Given the description of an element on the screen output the (x, y) to click on. 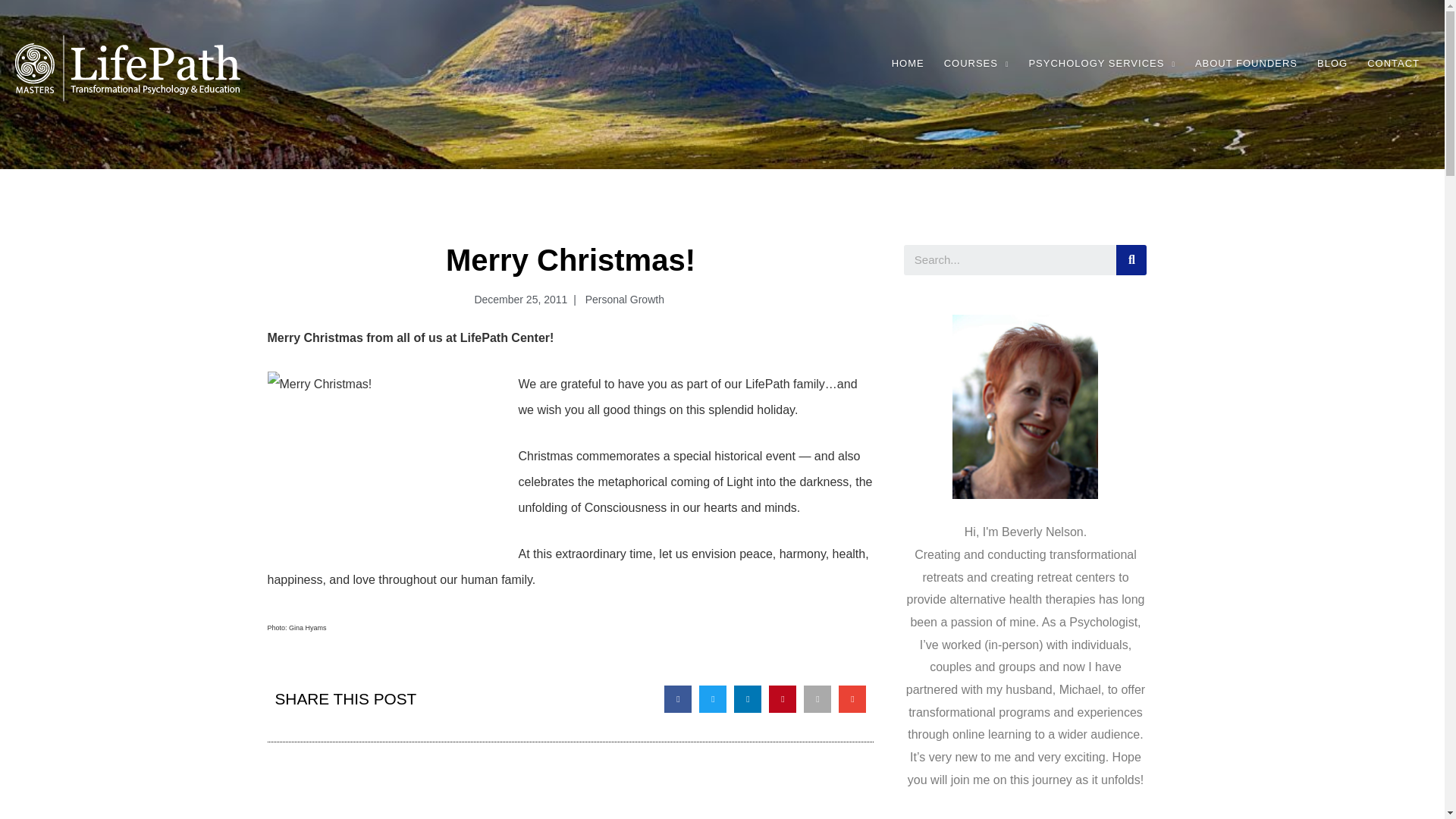
COURSES (976, 63)
BLOG (1331, 63)
Personal Growth (622, 299)
Search (1131, 259)
Merry Christmas! (382, 458)
PSYCHOLOGY SERVICES (1101, 63)
CONTACT (1392, 63)
Search (1010, 259)
HOME (908, 63)
December 25, 2011 (517, 300)
ABOUT FOUNDERS (1246, 63)
